Given the description of an element on the screen output the (x, y) to click on. 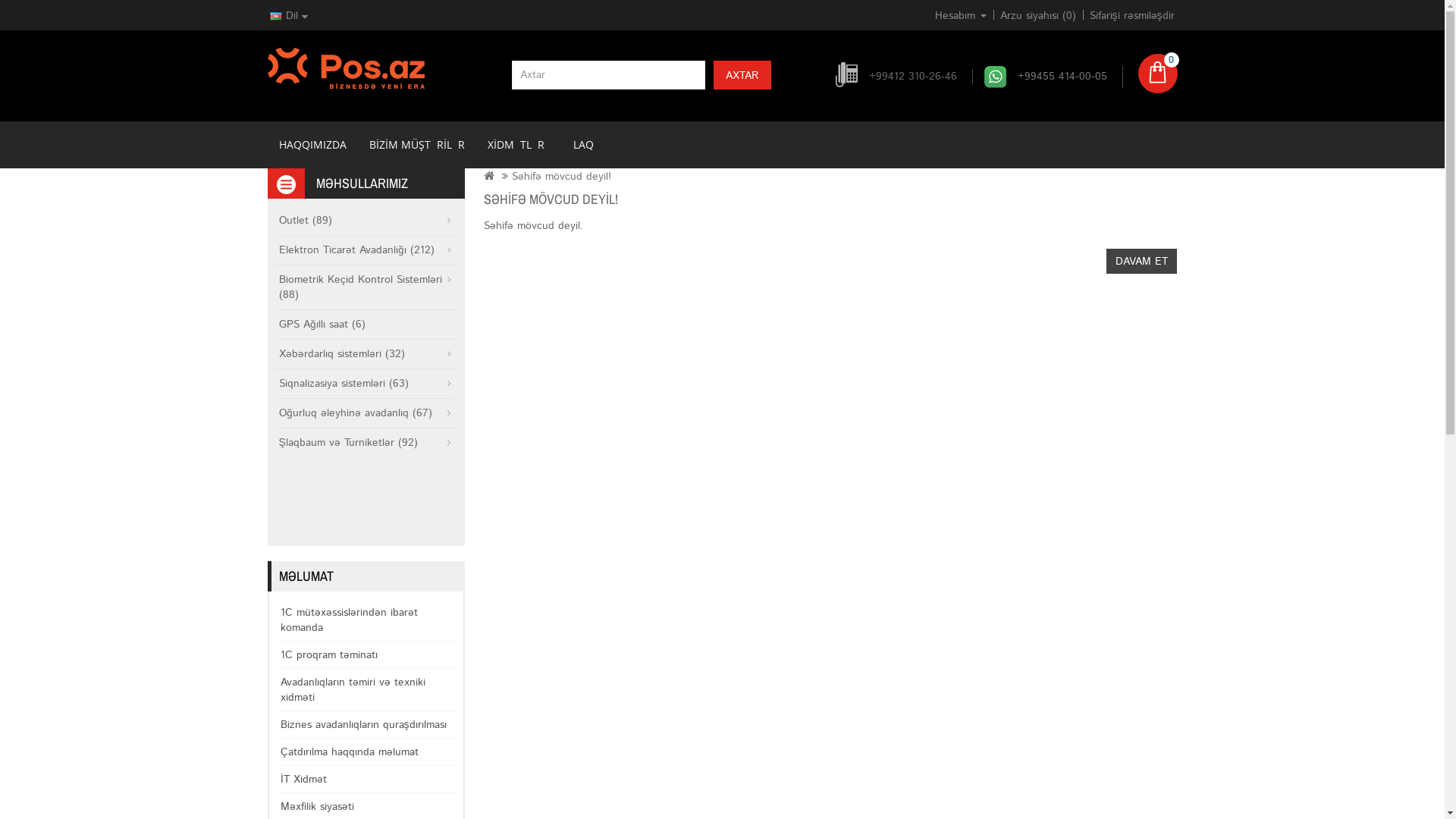
DAVAM ET Element type: text (1141, 260)
AXTAR Element type: text (741, 74)
+99455 414-00-05 Element type: text (1062, 76)
HAQQIMIZDA Element type: text (311, 144)
AZE Element type: hover (275, 16)
0 Element type: text (1156, 73)
POS.AZ Element type: hover (344, 68)
Outlet (89) Element type: text (364, 220)
Dil Element type: text (287, 15)
